Given the description of an element on the screen output the (x, y) to click on. 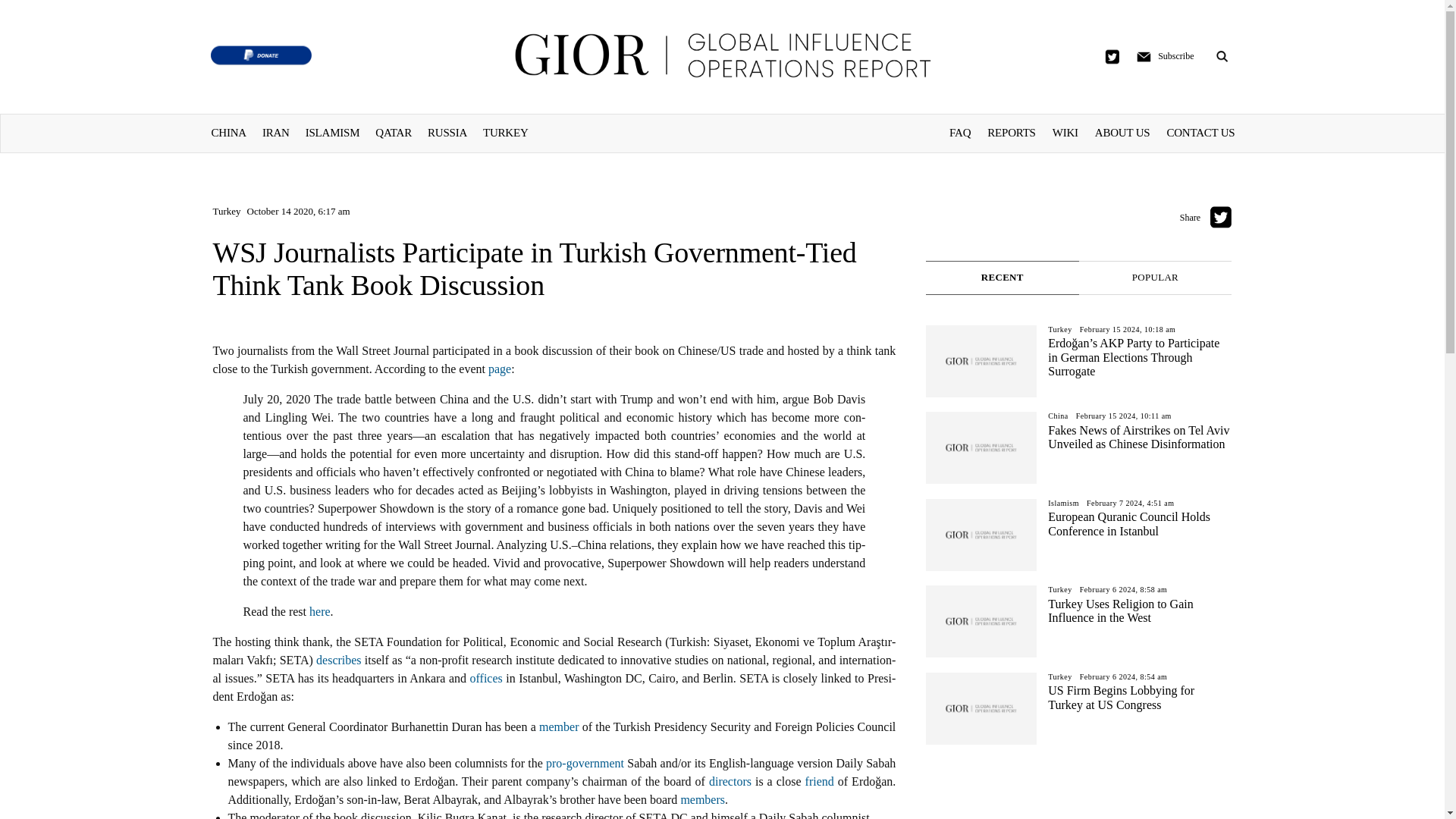
here (319, 611)
friend (819, 780)
REPORTS (1011, 132)
Subscribe (1175, 55)
CHINA (228, 132)
WIKI (1065, 132)
describes (338, 659)
ISLAMISM (332, 132)
RUSSIA (447, 132)
IRAN (275, 132)
